Given the description of an element on the screen output the (x, y) to click on. 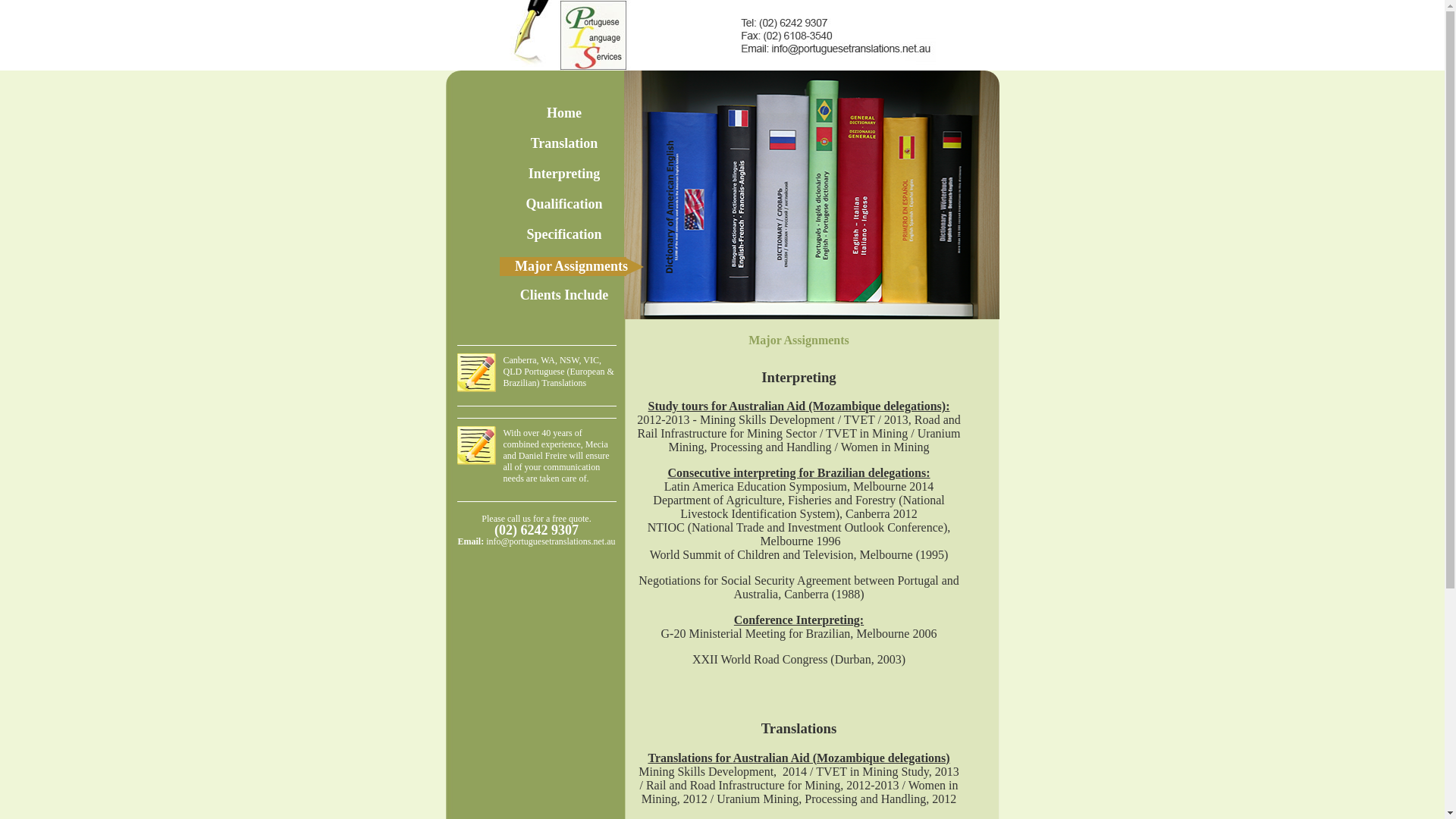
Major Assignments Element type: text (570, 268)
Qualification Element type: text (563, 203)
info@portuguesetranslations.net.au Element type: text (550, 541)
Specification Element type: text (563, 233)
Clients Include Element type: text (564, 294)
Translation Element type: text (564, 142)
Interpreting Element type: text (564, 173)
Home Element type: text (563, 112)
